Given the description of an element on the screen output the (x, y) to click on. 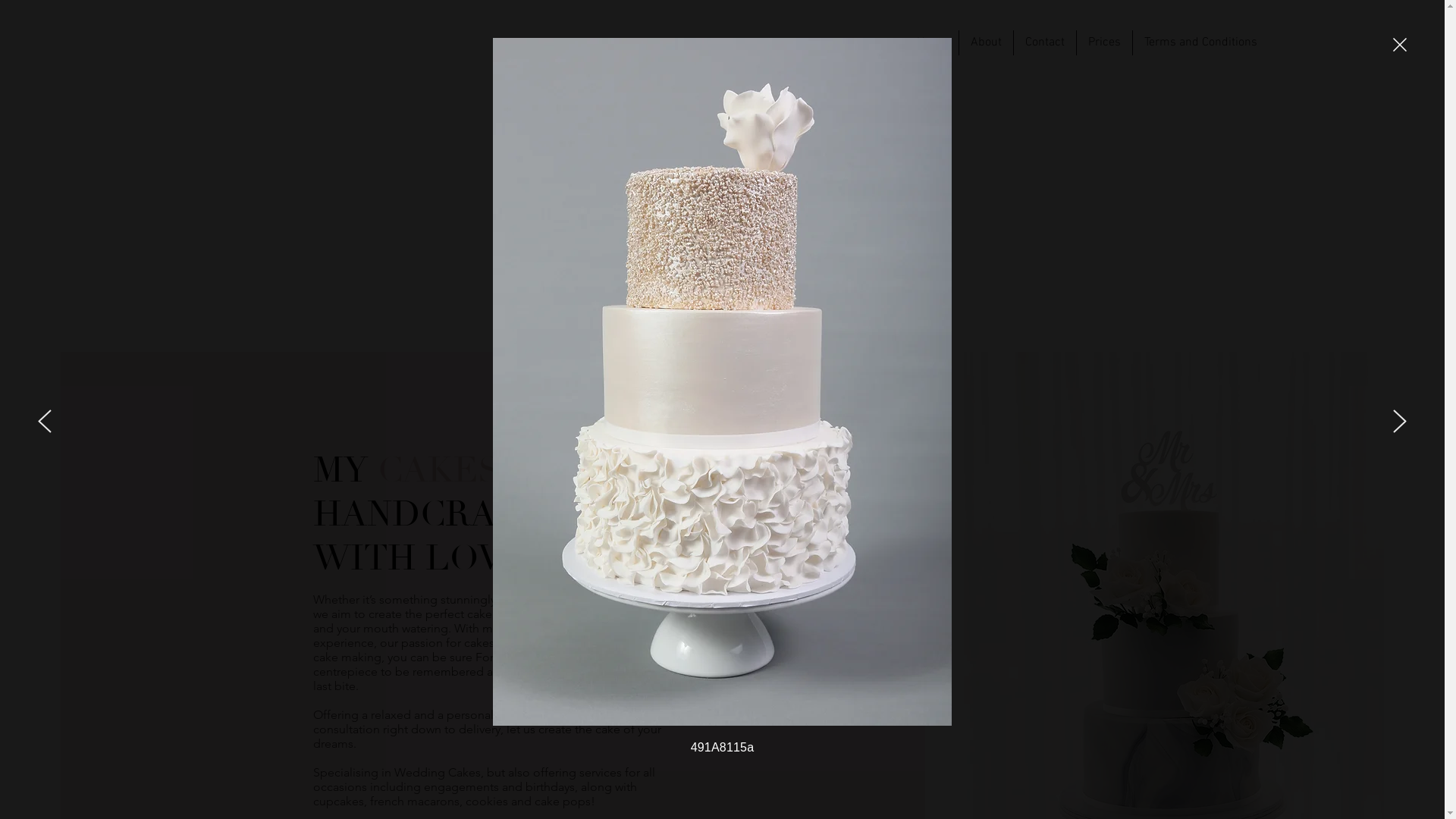
Terms and Conditions Element type: text (1200, 42)
Prices Element type: text (1104, 42)
Contact Element type: text (1044, 42)
Home Element type: text (931, 42)
About Element type: text (986, 42)
Restaurant Social Bar Element type: hover (411, 56)
